Given the description of an element on the screen output the (x, y) to click on. 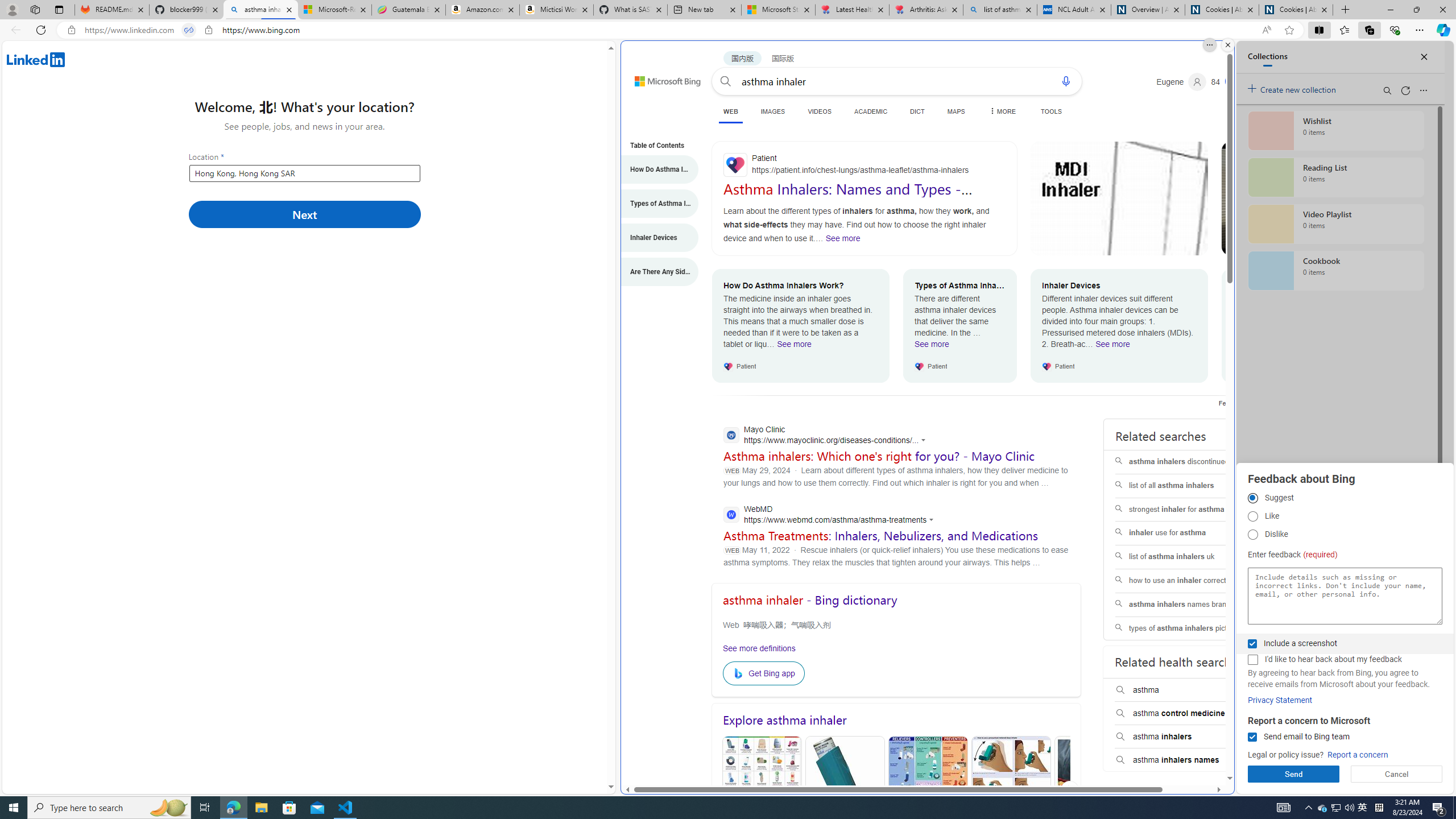
asthma inhalers names (1187, 759)
asthma inhaler - Bing dictionary (809, 599)
list of all asthma inhalers (1187, 485)
asthma (1187, 690)
ACADEMIC (871, 111)
VIDEOS (820, 111)
Search more (1204, 744)
Get Bing app (763, 673)
Dropdown Menu (1001, 111)
Cancel (1396, 773)
Microsoft Rewards 81 (1228, 81)
